Given the description of an element on the screen output the (x, y) to click on. 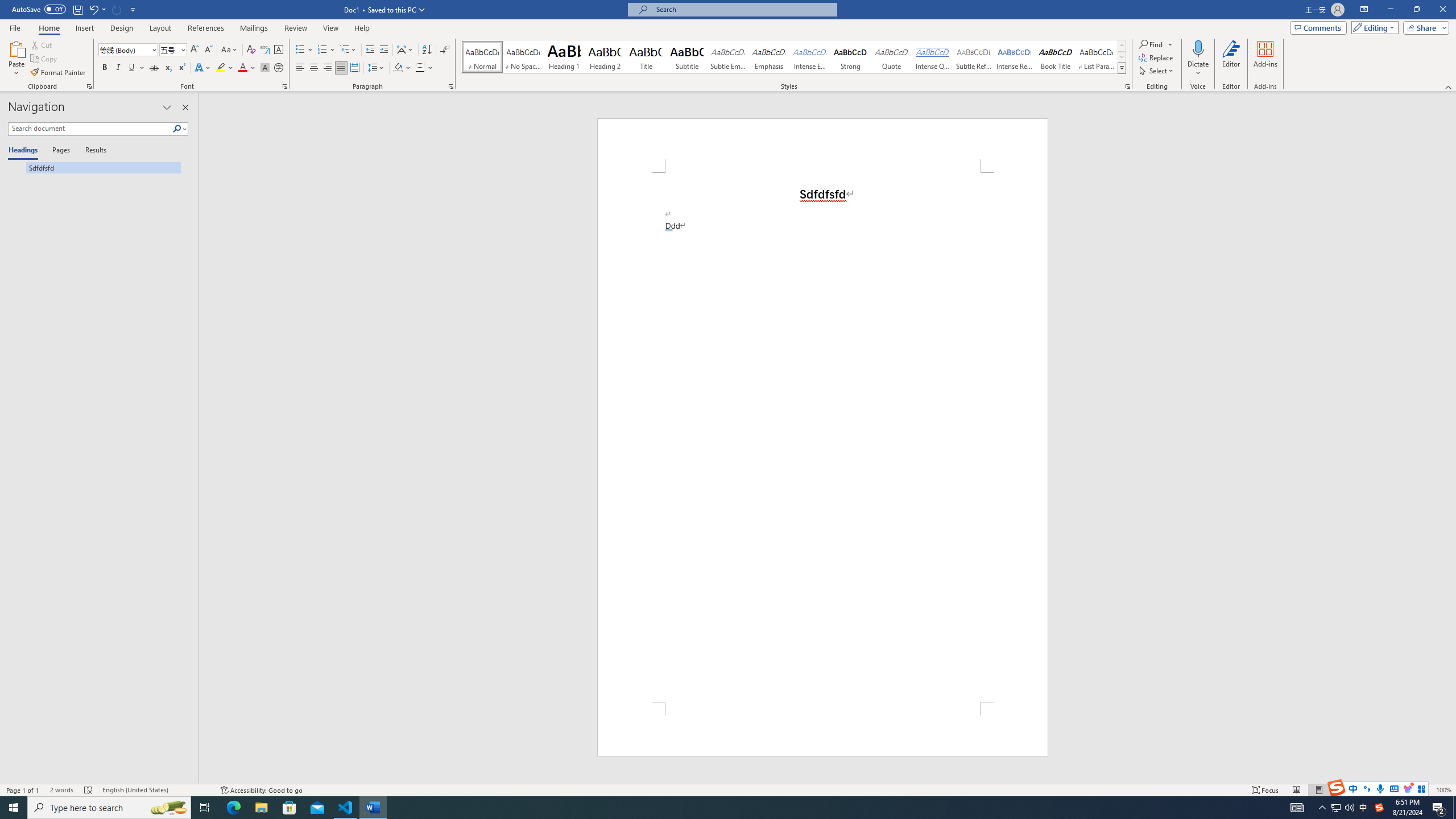
Grow Font (193, 49)
Dictate (1197, 48)
Pages (59, 150)
Format Painter (58, 72)
Heading 1 (564, 56)
